Given the description of an element on the screen output the (x, y) to click on. 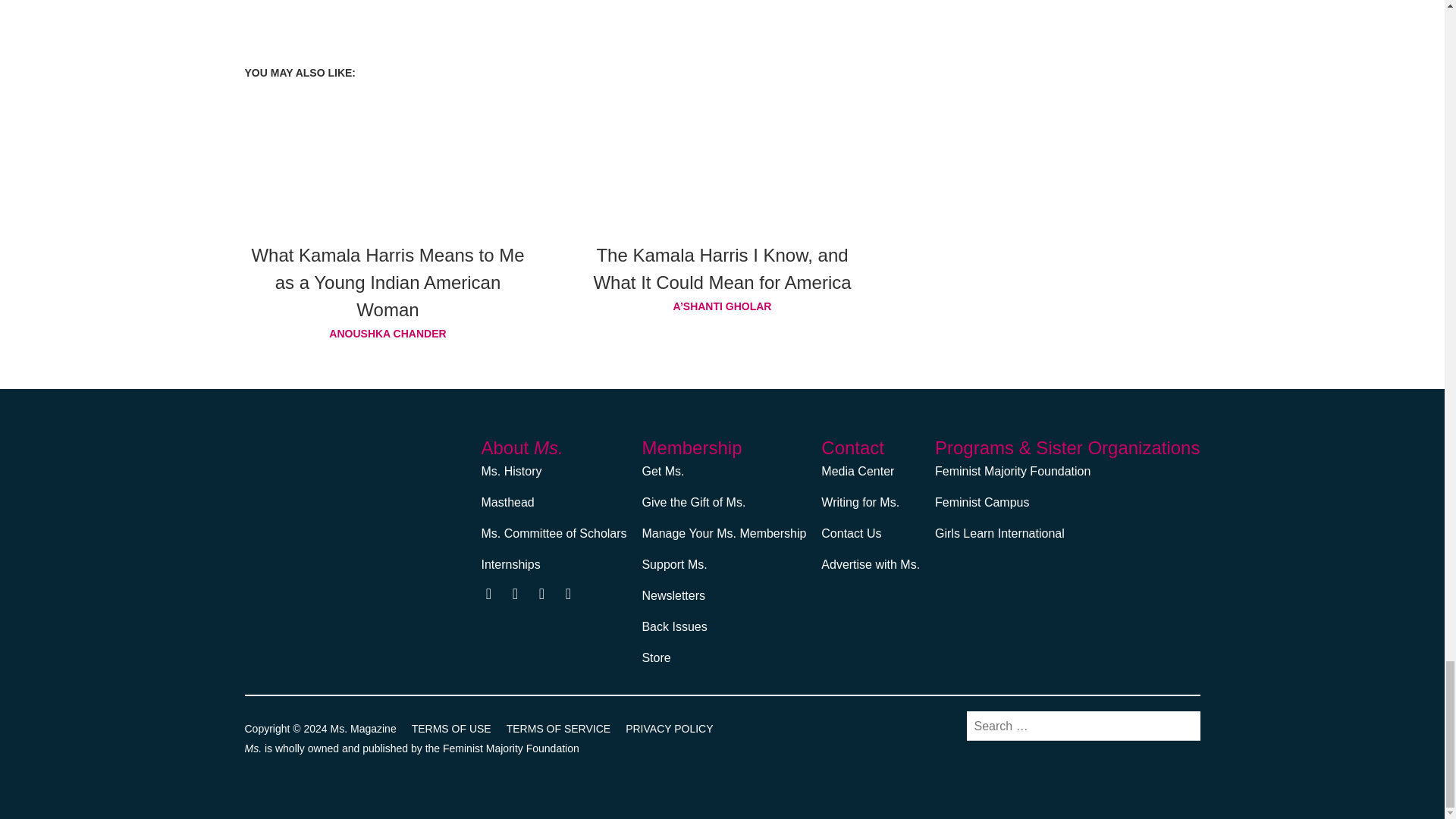
Posts by Anoushka Chander (387, 333)
Search (1182, 725)
Search (1182, 725)
Search for: (1082, 726)
